Given the description of an element on the screen output the (x, y) to click on. 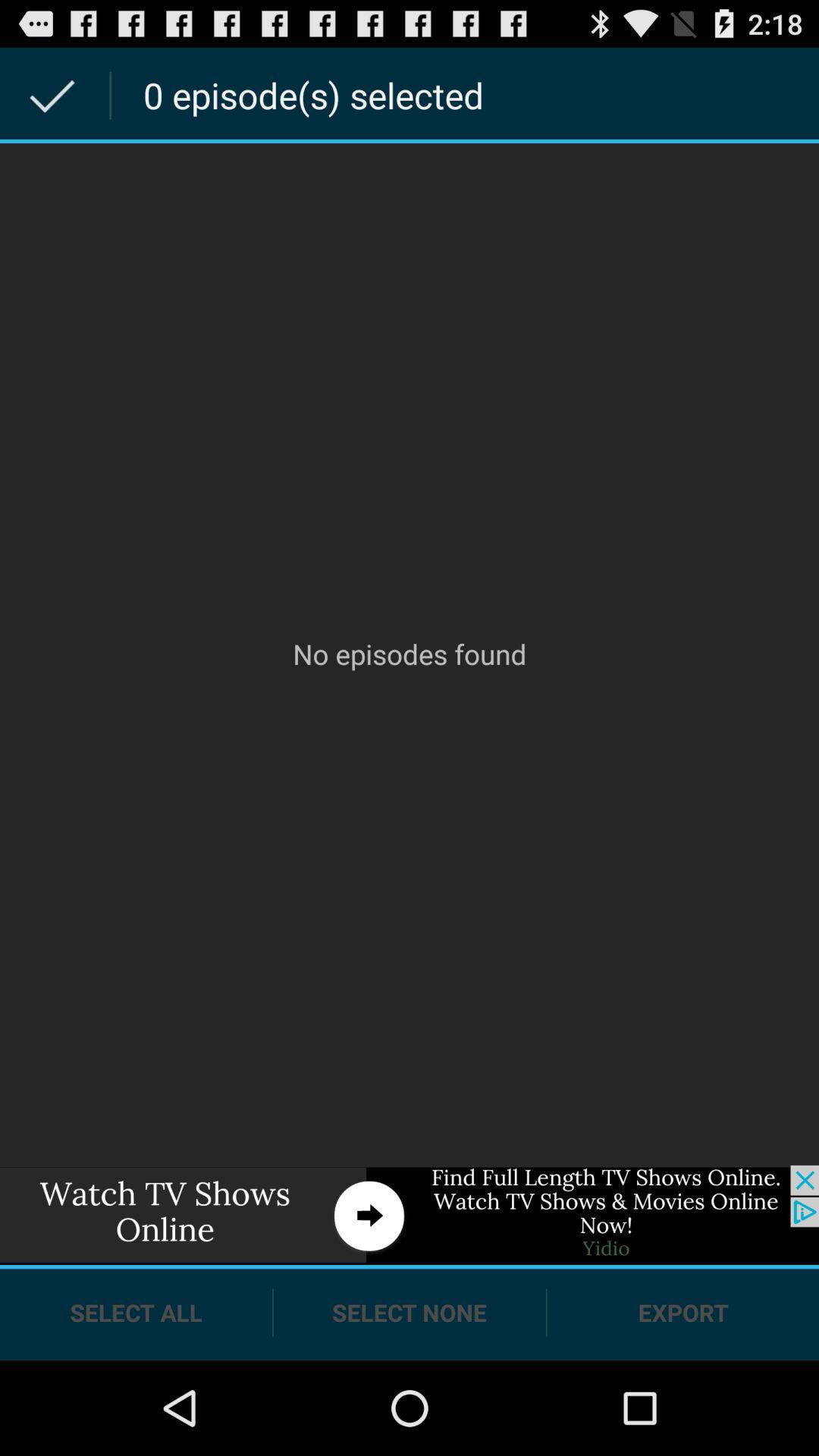
go to play option (409, 1214)
